Given the description of an element on the screen output the (x, y) to click on. 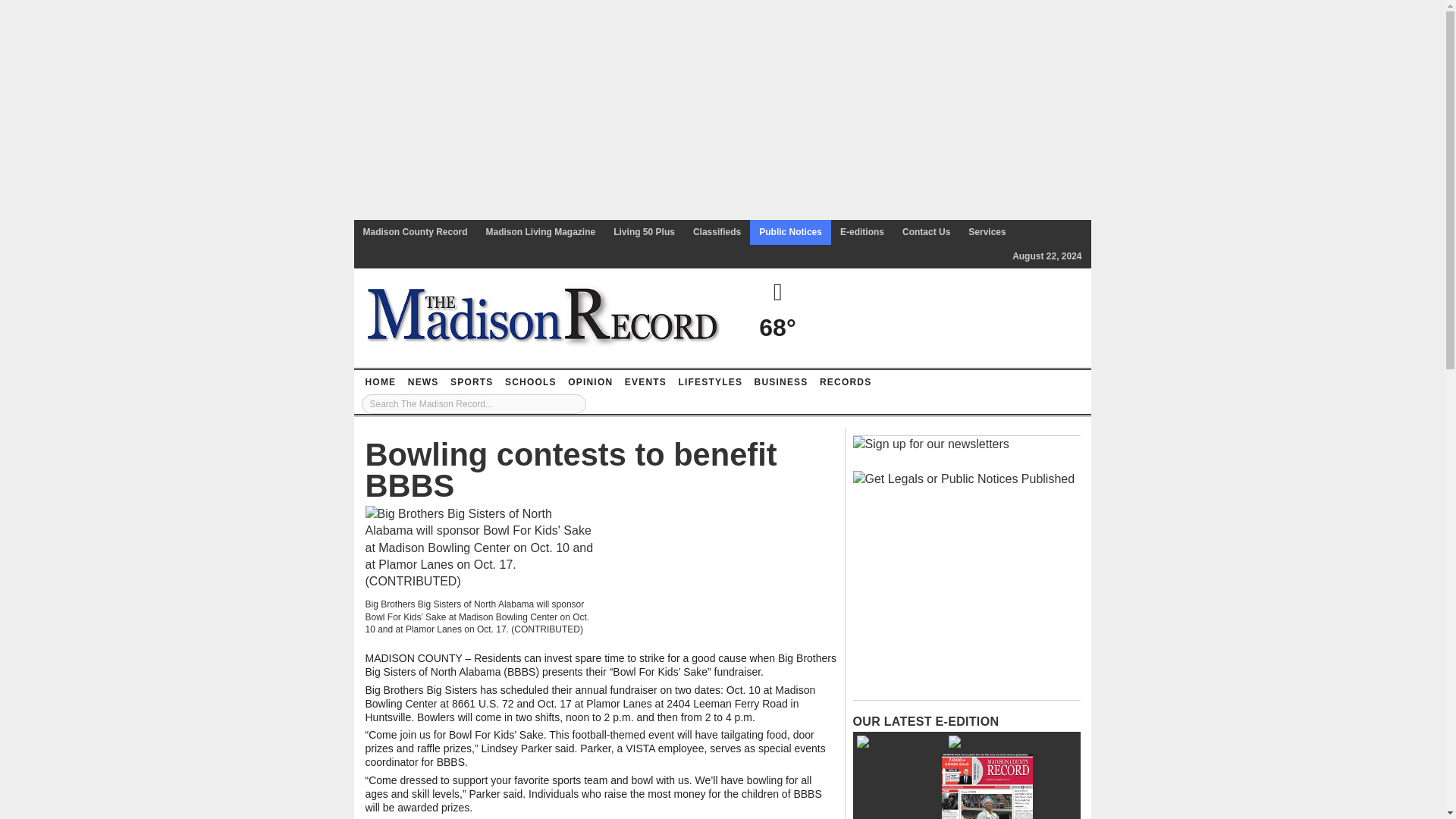
OPINION (589, 381)
LIFESTYLES (709, 381)
Contact Us (926, 232)
Madison County Record (414, 232)
Services (986, 232)
Madison Living Magazine (541, 232)
NEWS (423, 381)
RECORDS (845, 381)
3rd party ad content (965, 597)
Go (574, 403)
